Given the description of an element on the screen output the (x, y) to click on. 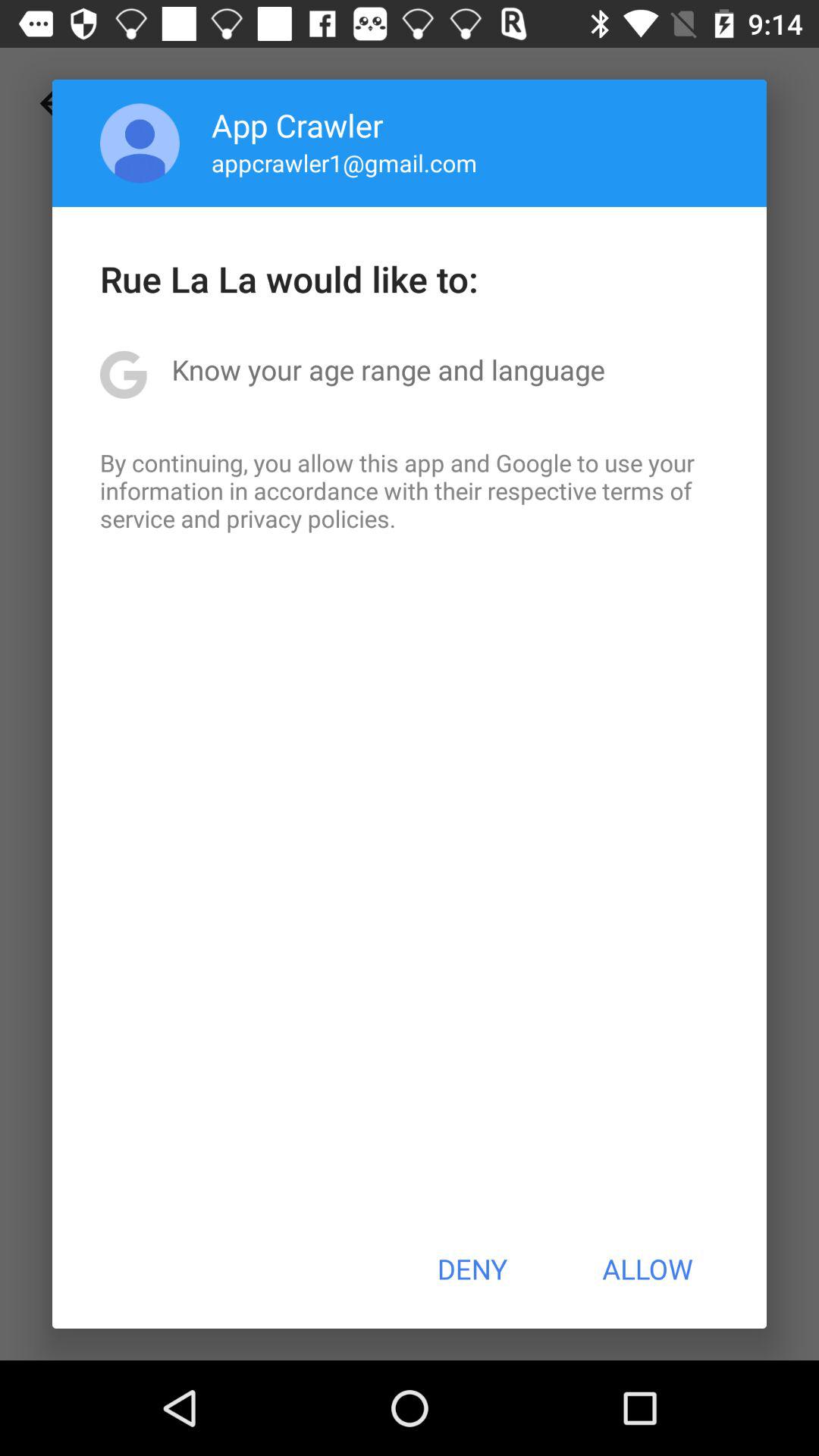
turn on app below app crawler app (344, 162)
